Given the description of an element on the screen output the (x, y) to click on. 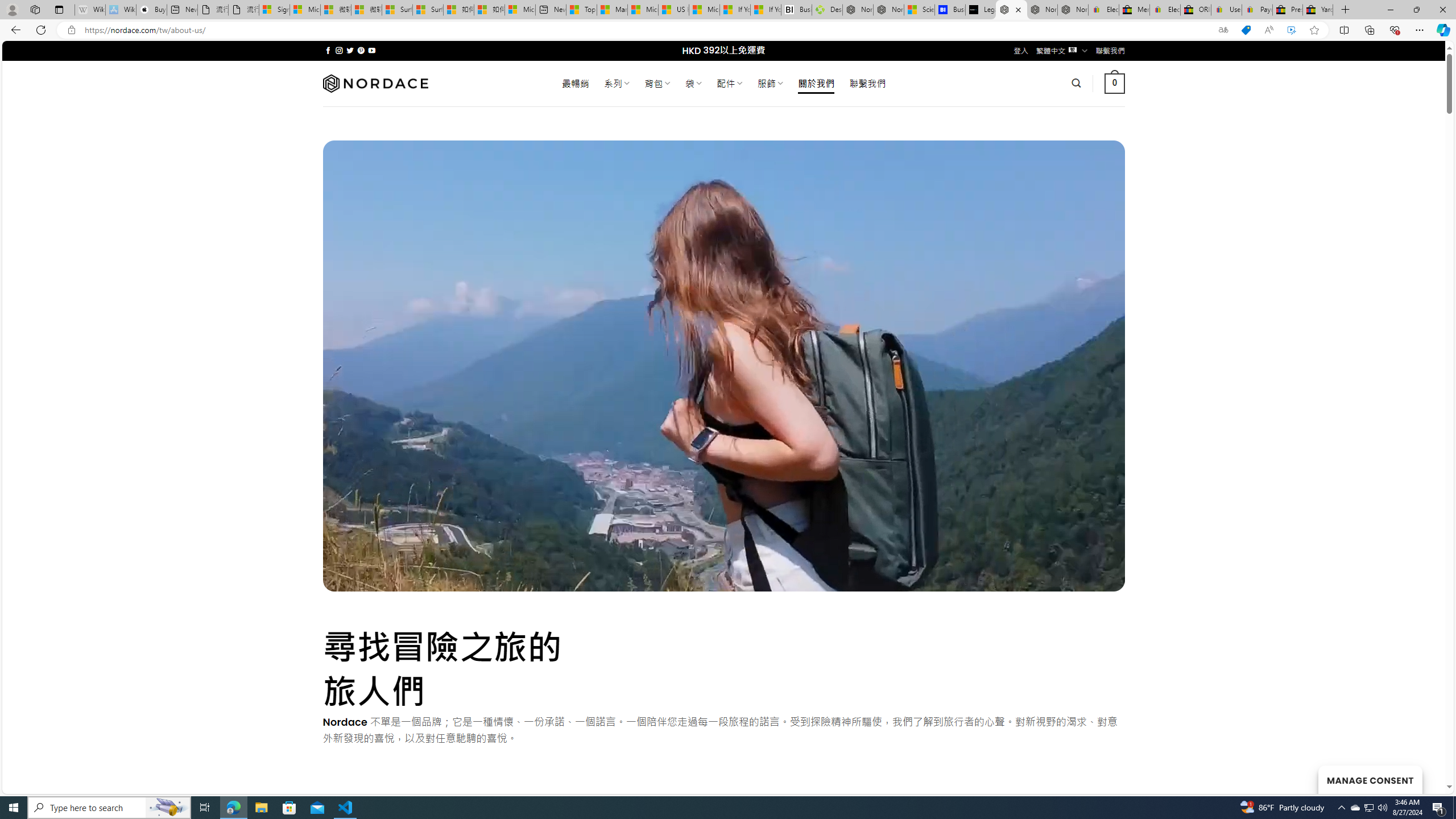
Follow on Twitter (349, 50)
Follow on Instagram (338, 50)
